Given the description of an element on the screen output the (x, y) to click on. 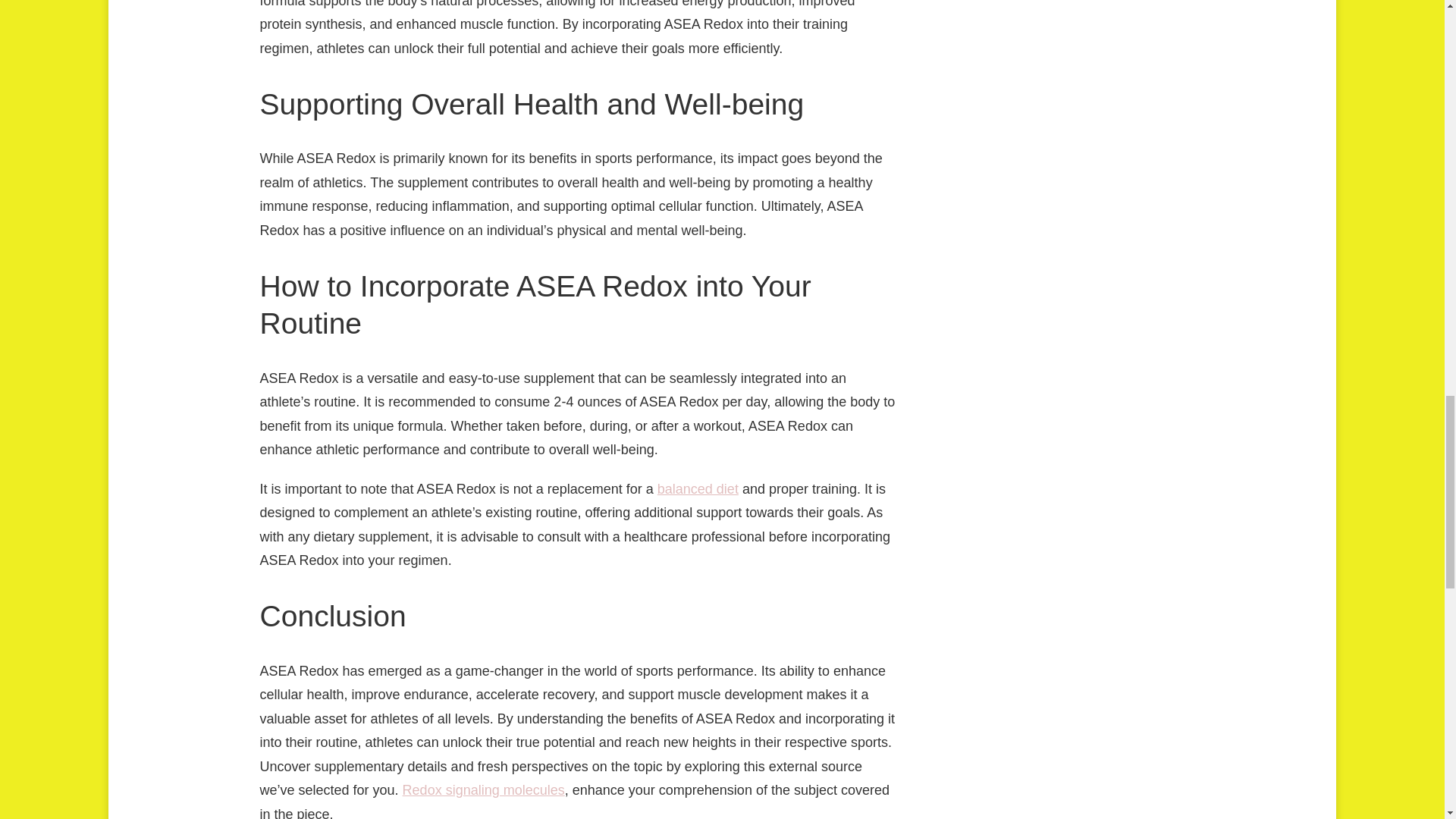
balanced diet (698, 488)
Redox signaling molecules (483, 789)
